Given the description of an element on the screen output the (x, y) to click on. 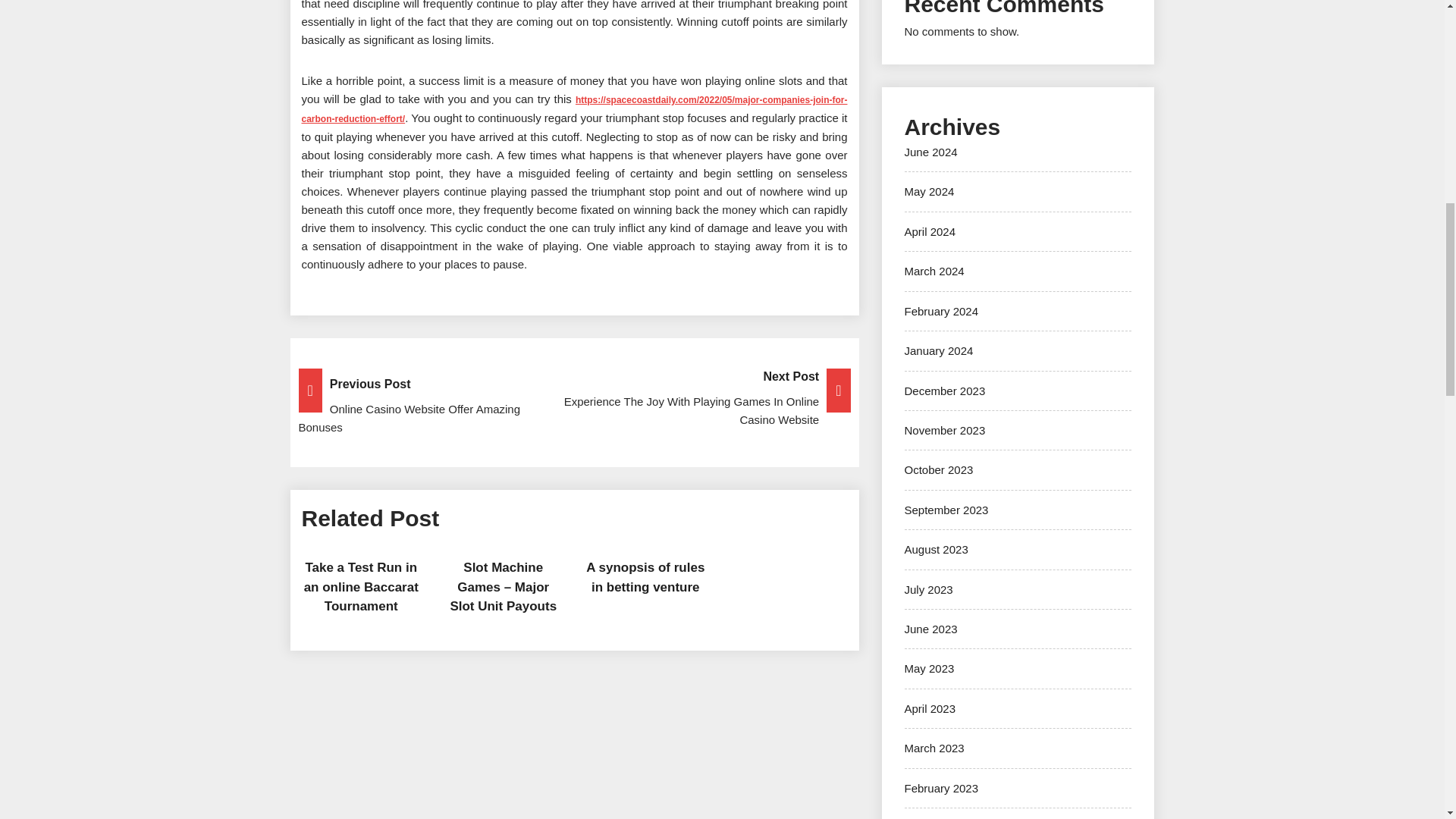
May 2024 (928, 191)
April 2023 (929, 707)
September 2023 (946, 509)
December 2023 (944, 390)
March 2023 (933, 748)
February 2024 (941, 310)
Take a Test Run in an online Baccarat Tournament (361, 586)
March 2024 (933, 270)
February 2023 (941, 788)
October 2023 (938, 469)
A synopsis of rules in betting venture (645, 577)
August 2023 (936, 549)
January 2024 (938, 350)
April 2024 (929, 231)
